Given the description of an element on the screen output the (x, y) to click on. 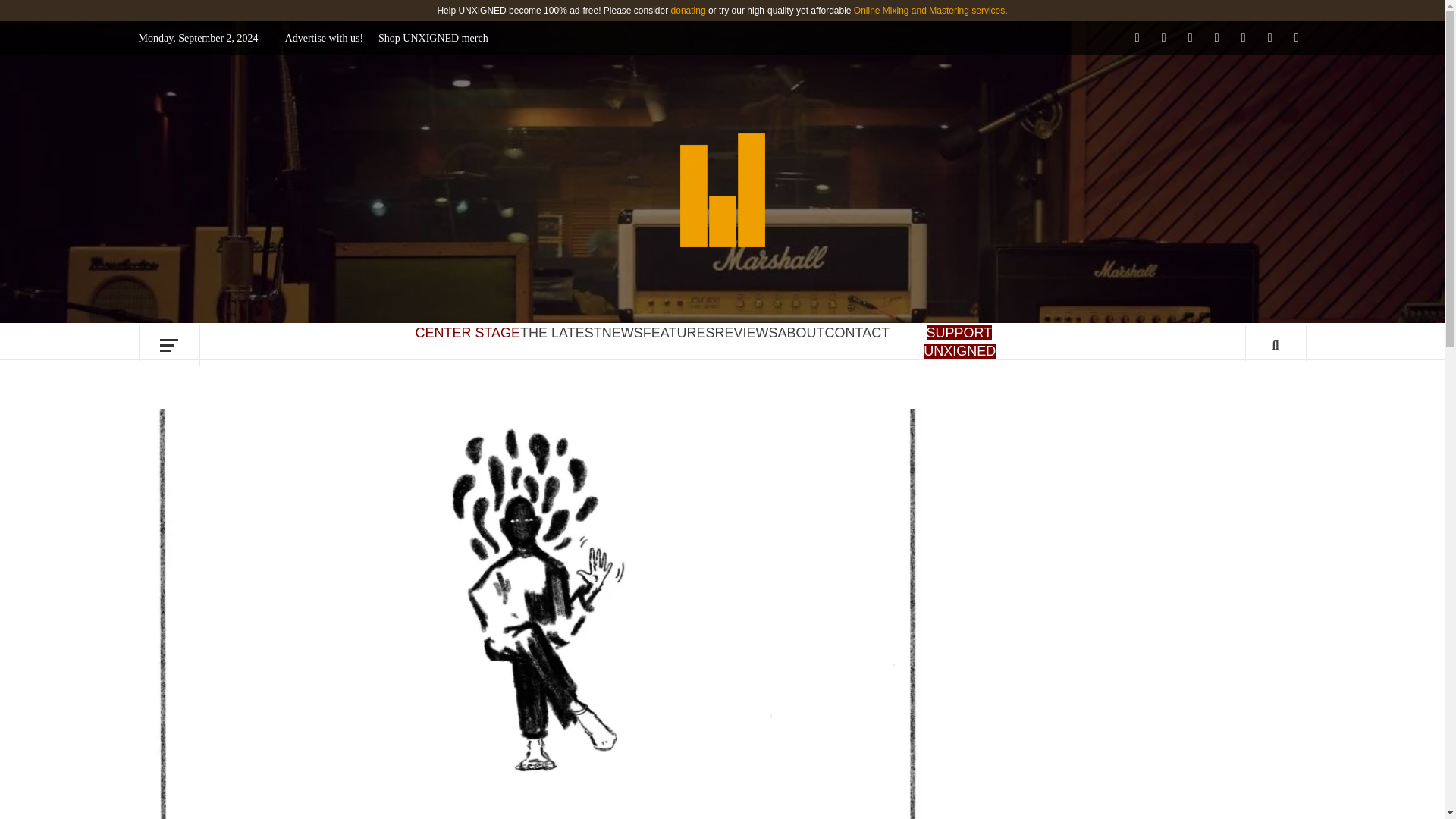
CENTER STAGE (466, 332)
THE LATEST (560, 332)
UNXIGNED (878, 156)
Advertise with us! (328, 38)
donating (688, 9)
FEATURES (678, 332)
NEWS (622, 332)
Shop UNXIGNED merch (433, 38)
Online Mixing and Mastering services (928, 9)
